Given the description of an element on the screen output the (x, y) to click on. 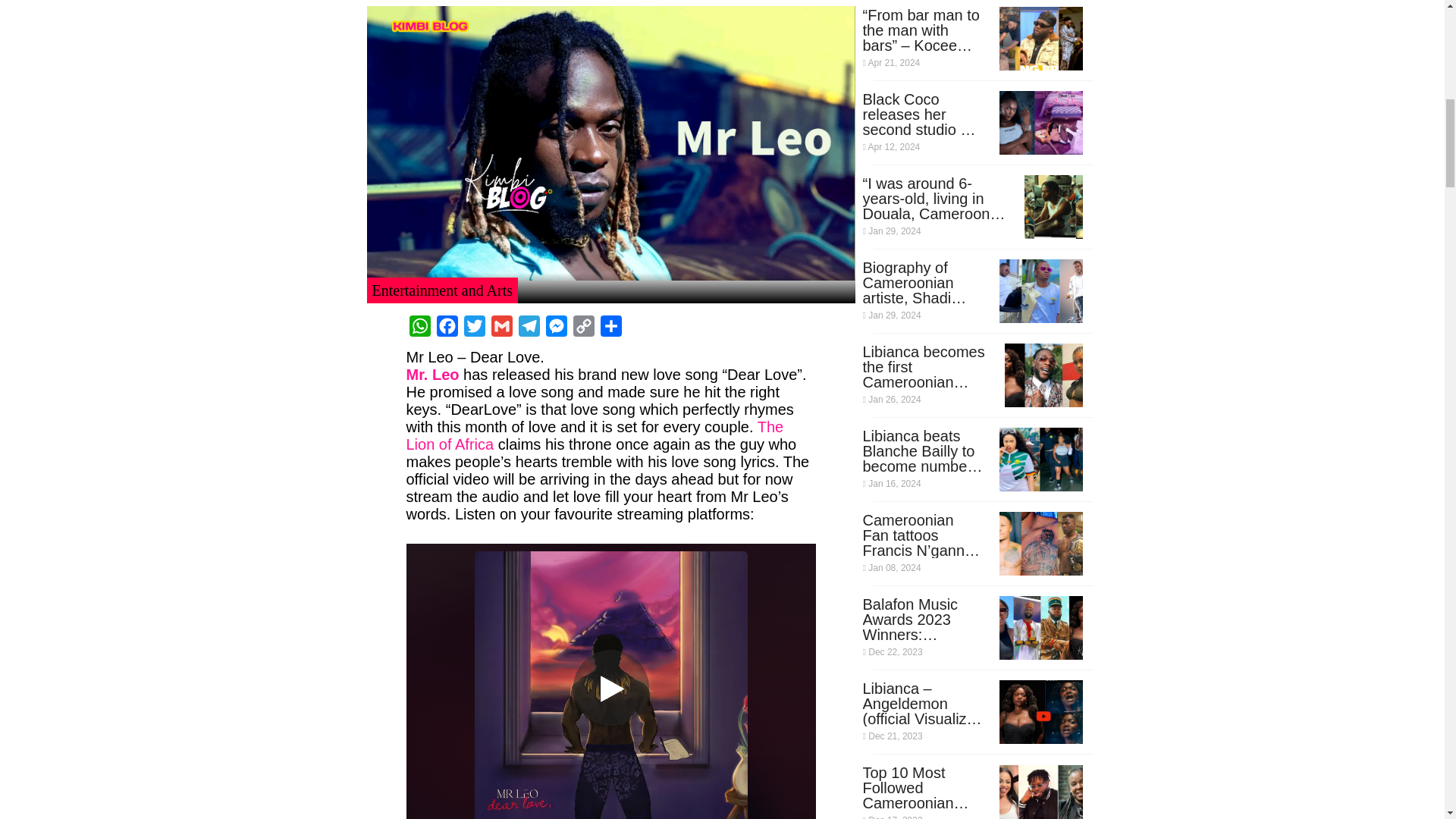
WhatsApp (419, 325)
Twitter (474, 325)
Facebook (447, 325)
Mr Leo - Dear Love (610, 681)
Gmail (501, 325)
Messenger (556, 325)
Copy Link (583, 325)
Telegram (529, 325)
